Given the description of an element on the screen output the (x, y) to click on. 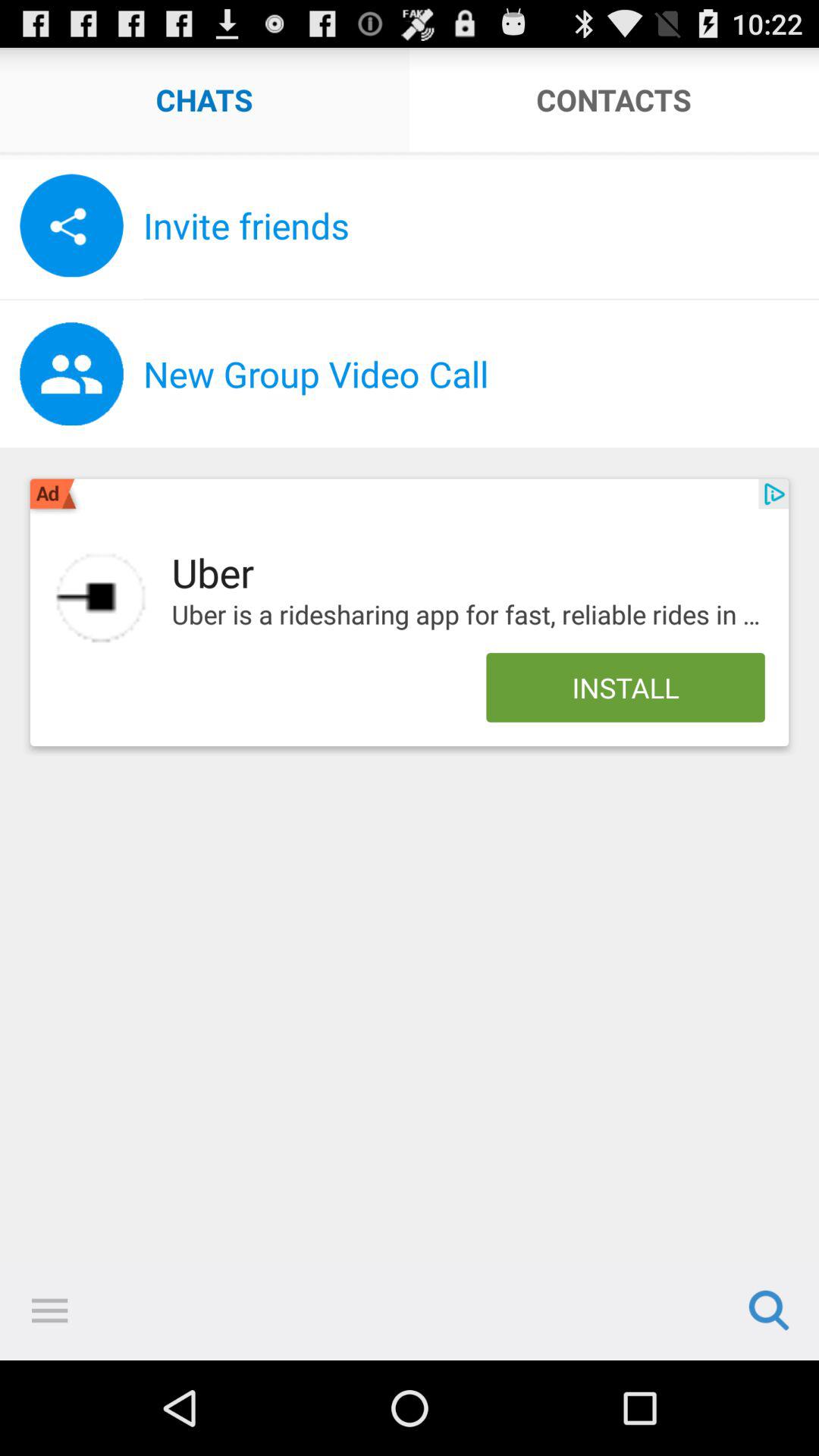
turn off item next to the uber icon (100, 597)
